Given the description of an element on the screen output the (x, y) to click on. 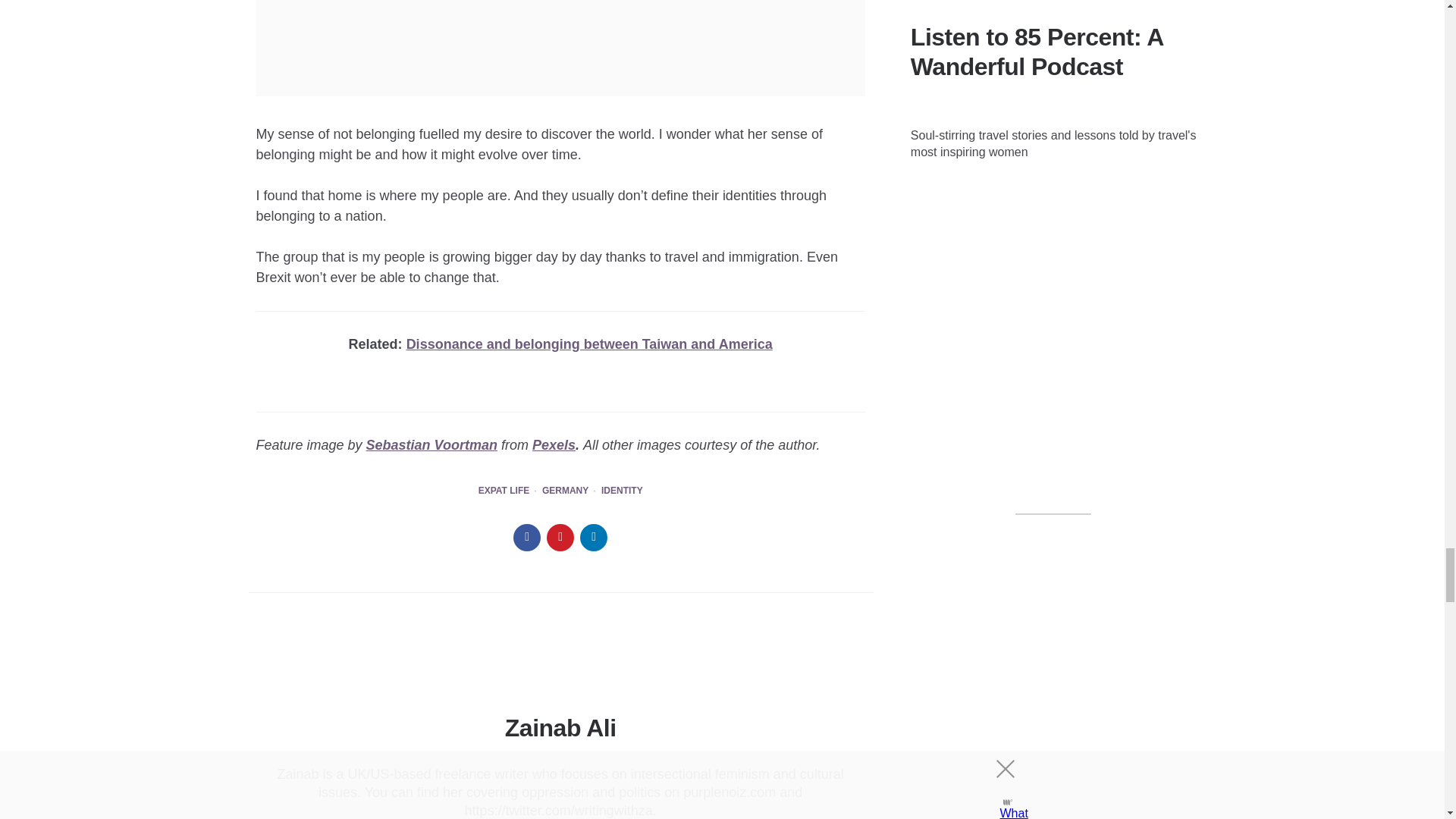
Dissonance and belonging between Taiwan and America (589, 344)
Pexels (553, 444)
Sebastian Voortman (431, 444)
IDENTITY (622, 491)
GERMANY (564, 491)
EXPAT LIFE (504, 491)
